Given the description of an element on the screen output the (x, y) to click on. 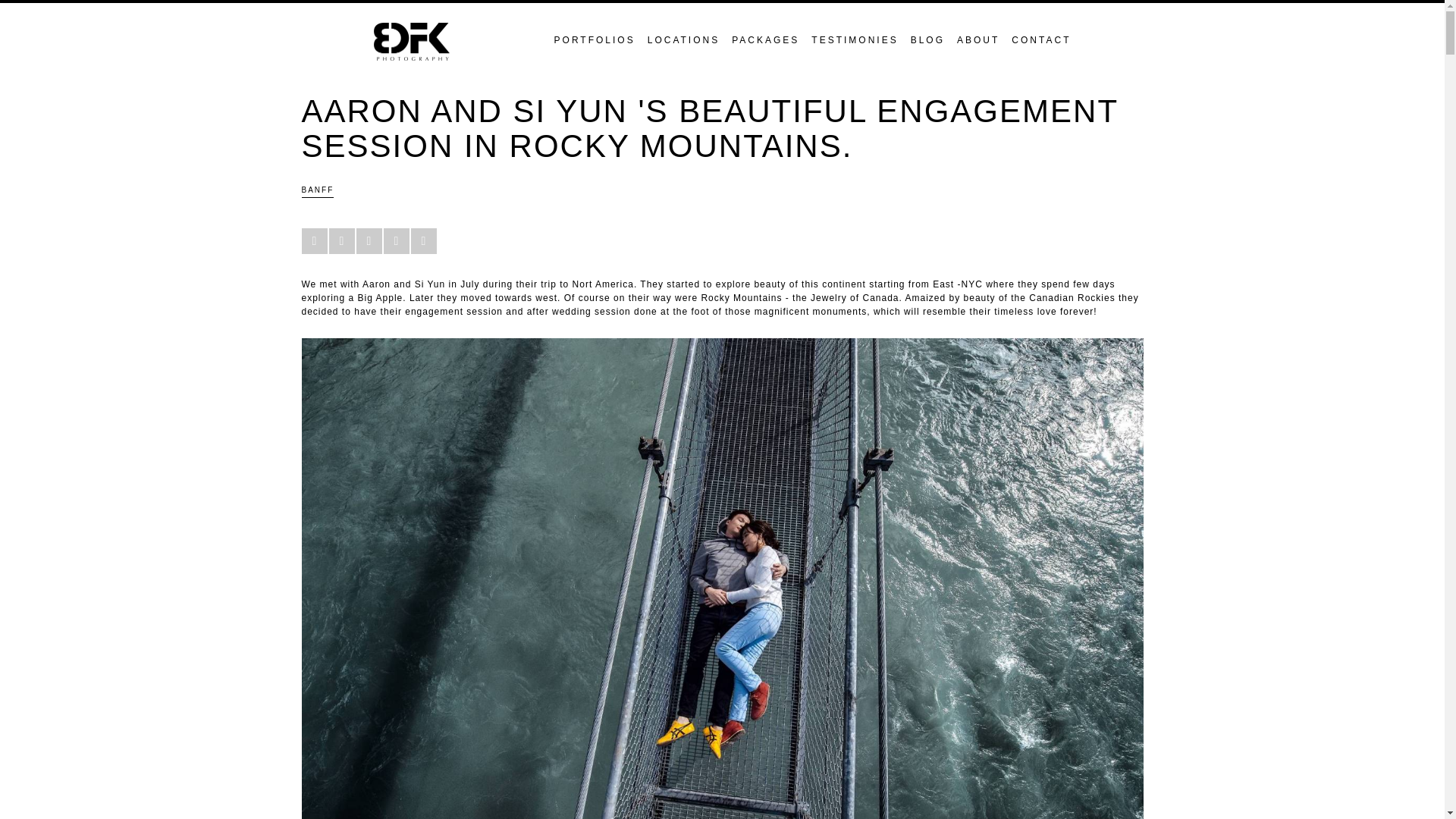
ABOUT (971, 40)
PACKAGES (759, 40)
BLOG (921, 40)
LOCATIONS (676, 40)
TESTIMONIES (848, 40)
CONTACT (1034, 40)
PORTFOLIOS (587, 40)
